Given the description of an element on the screen output the (x, y) to click on. 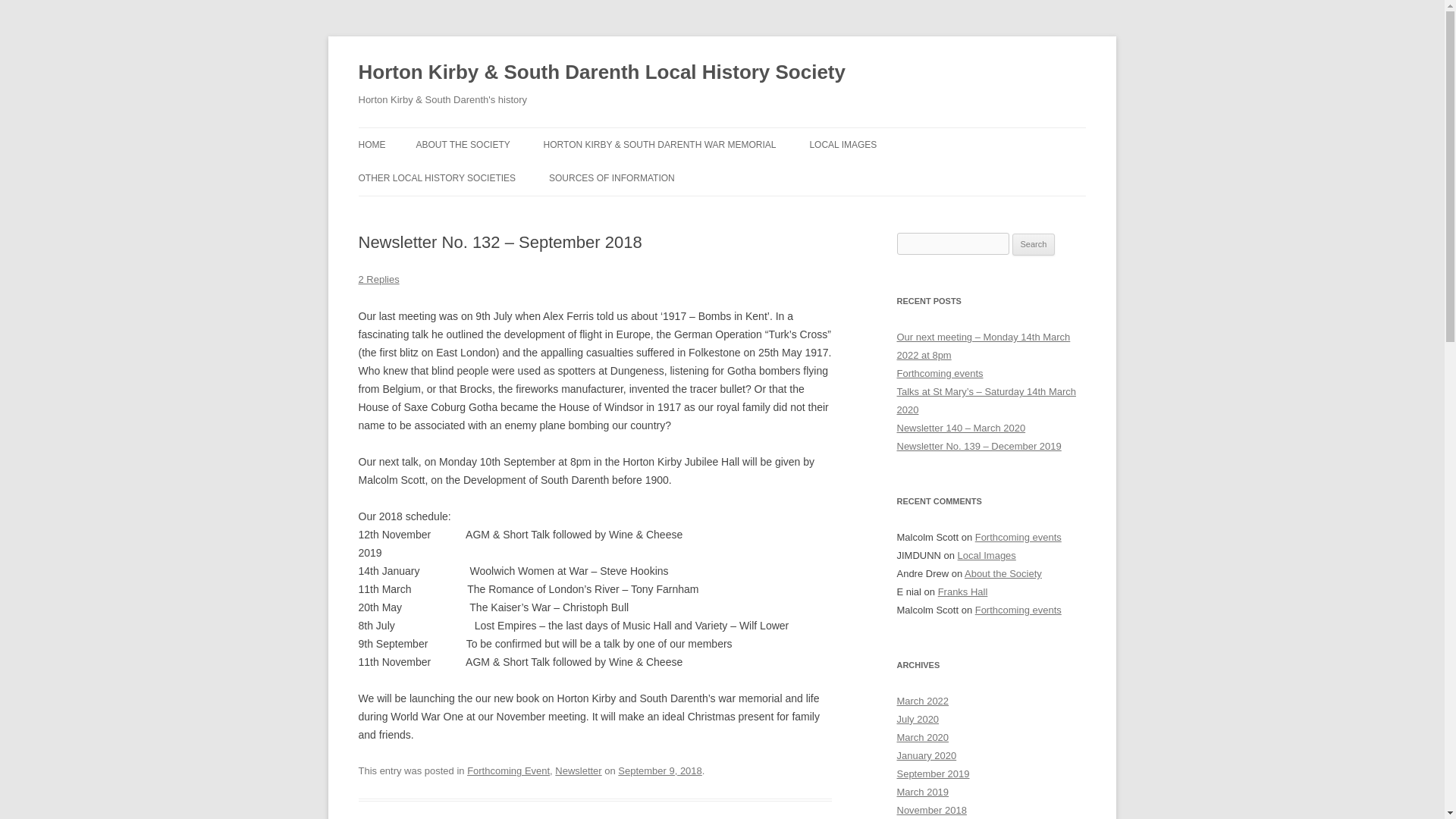
Search (1033, 244)
ABOUT THE SOCIETY (461, 144)
September 9, 2018 (659, 770)
About the Society (1002, 573)
Newsletter (577, 770)
BOOKS (624, 210)
Forthcoming events (1018, 536)
2 Replies (378, 279)
9:54 pm (659, 770)
Local Images (987, 555)
Franks Hall (962, 591)
Forthcoming events (939, 373)
SOURCES OF INFORMATION (611, 177)
